Given the description of an element on the screen output the (x, y) to click on. 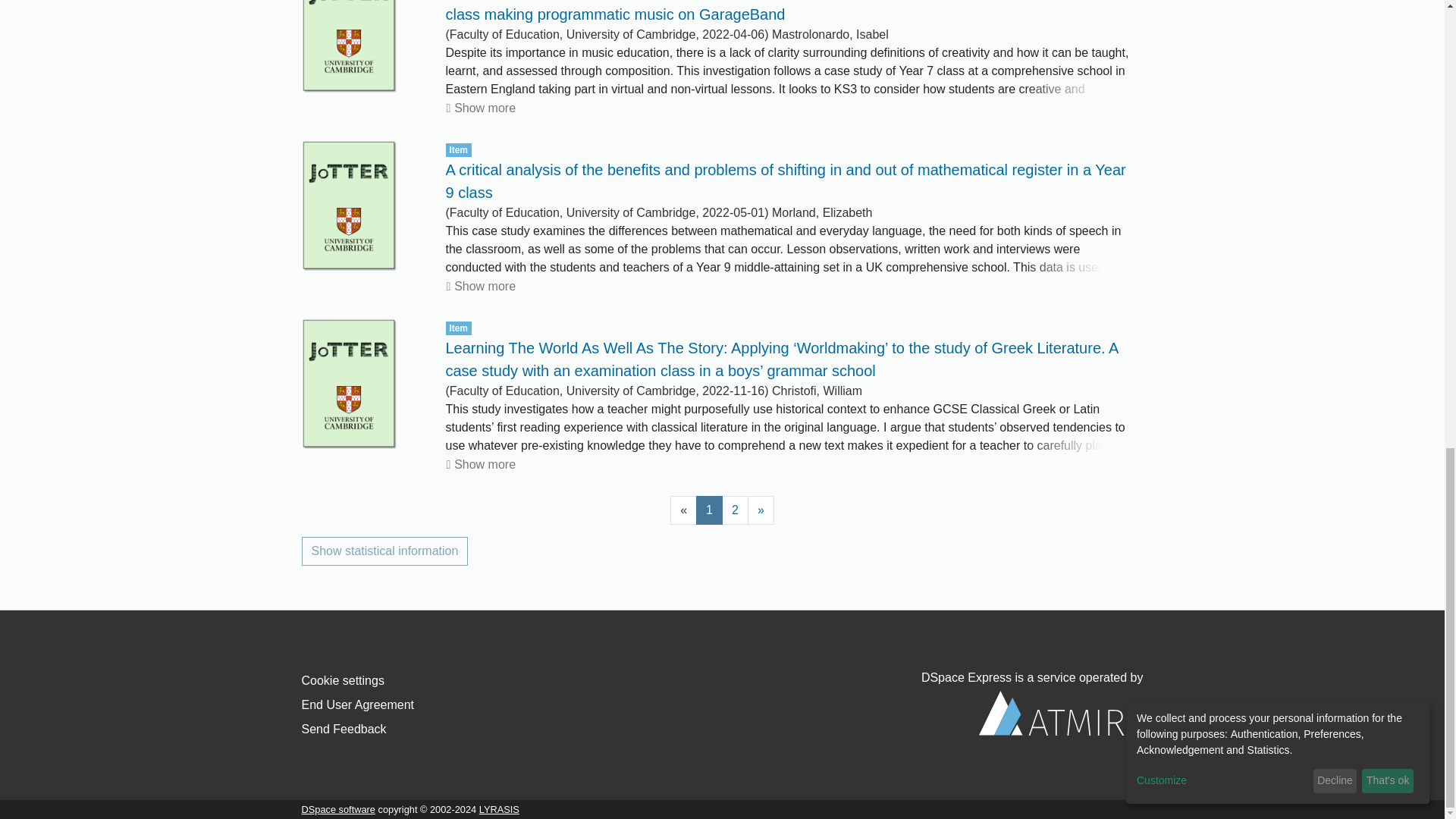
Show more (480, 286)
Show more (480, 107)
Show more (480, 465)
